Given the description of an element on the screen output the (x, y) to click on. 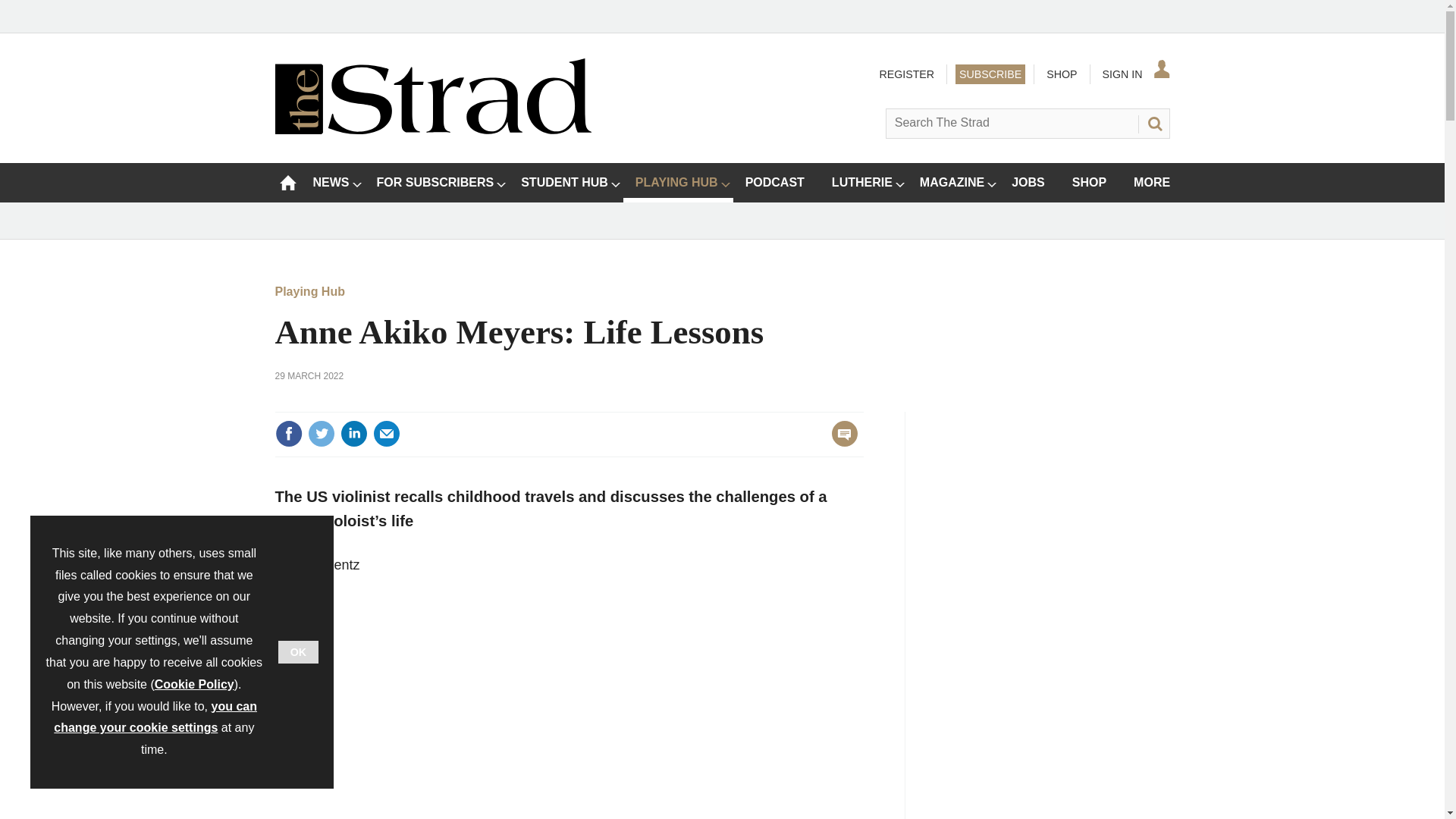
SHOP (1061, 74)
Email this article (386, 433)
Cookie Policy (194, 684)
OK (298, 651)
No comments (840, 442)
SIGN IN (1134, 74)
REGISTER (906, 74)
SUBSCRIBE (990, 74)
you can change your cookie settings (155, 717)
SEARCH (1153, 123)
Share this on Facebook (288, 433)
Share this on Linked in (352, 433)
Share this on Twitter (320, 433)
Insert Logo text (433, 129)
